Given the description of an element on the screen output the (x, y) to click on. 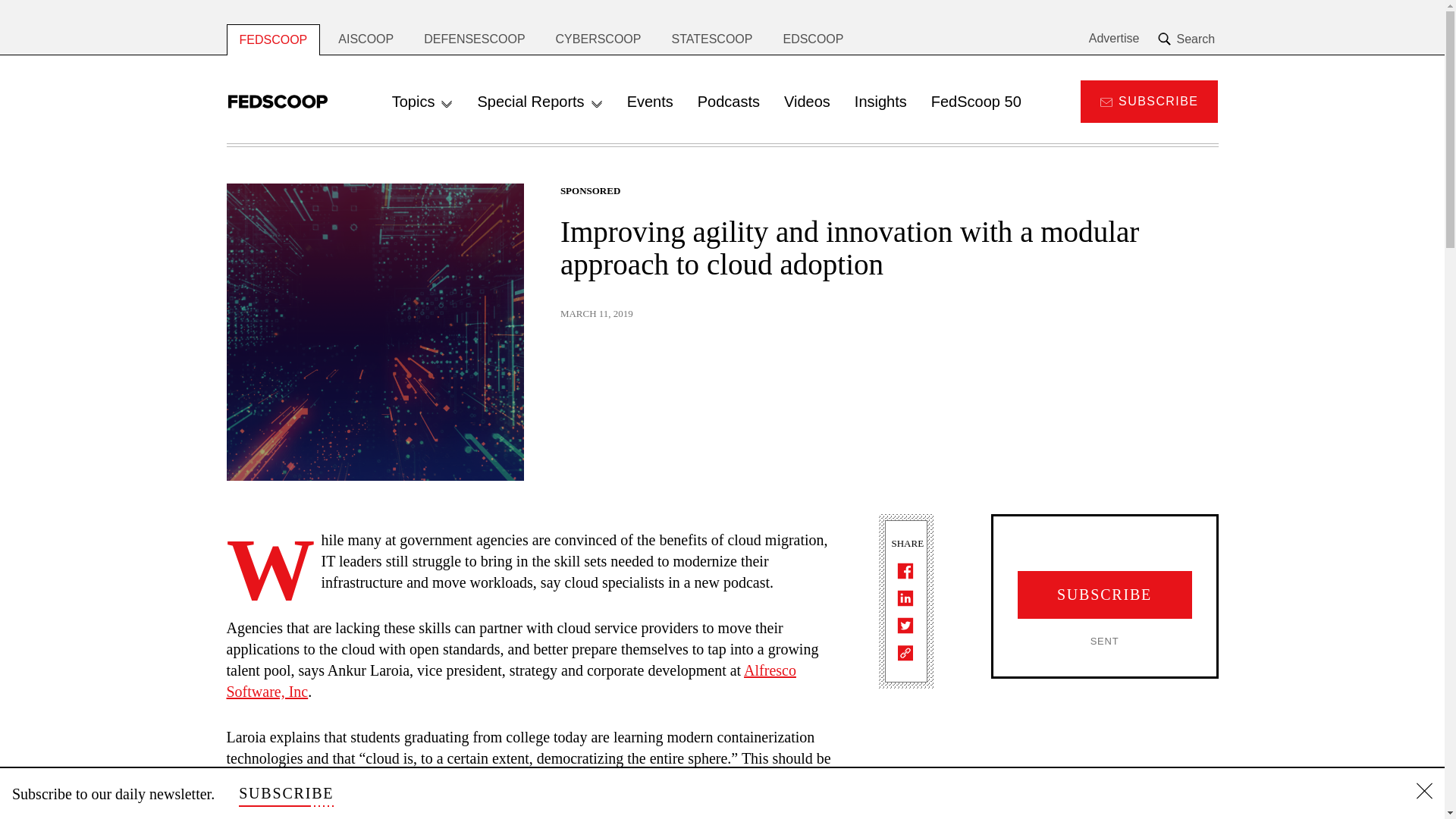
Events (649, 101)
FEDSCOOP (272, 39)
DEFENSESCOOP (474, 39)
FedScoop 50 (975, 101)
STATESCOOP (711, 39)
Podcasts (728, 101)
Search (1187, 38)
Advertise (1114, 38)
AISCOOP (366, 39)
Special Reports (539, 101)
Videos (807, 101)
EDSCOOP (813, 39)
Topics (422, 101)
CYBERSCOOP (598, 39)
